Given the description of an element on the screen output the (x, y) to click on. 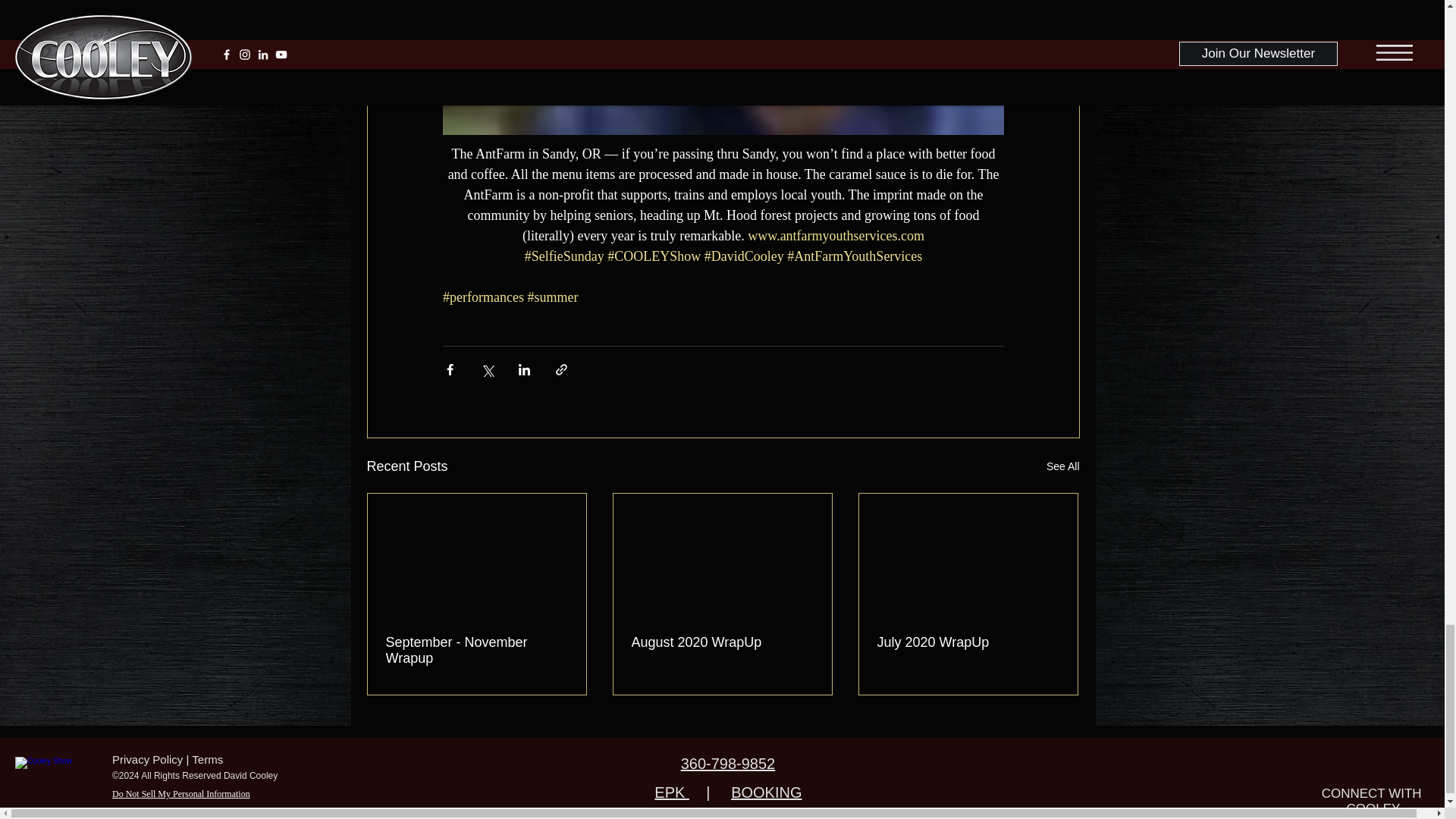
Privacy Policy (147, 758)
Cooley Show (57, 776)
www.antfarmyouthservices.com (836, 235)
August 2020 WrapUp (721, 642)
September - November Wrapup (476, 650)
July 2020 WrapUp (967, 642)
See All (1063, 466)
EPK  (670, 791)
360-798-9852 (728, 763)
Terms (207, 758)
Do Not Sell My Personal Information (181, 793)
